Given the description of an element on the screen output the (x, y) to click on. 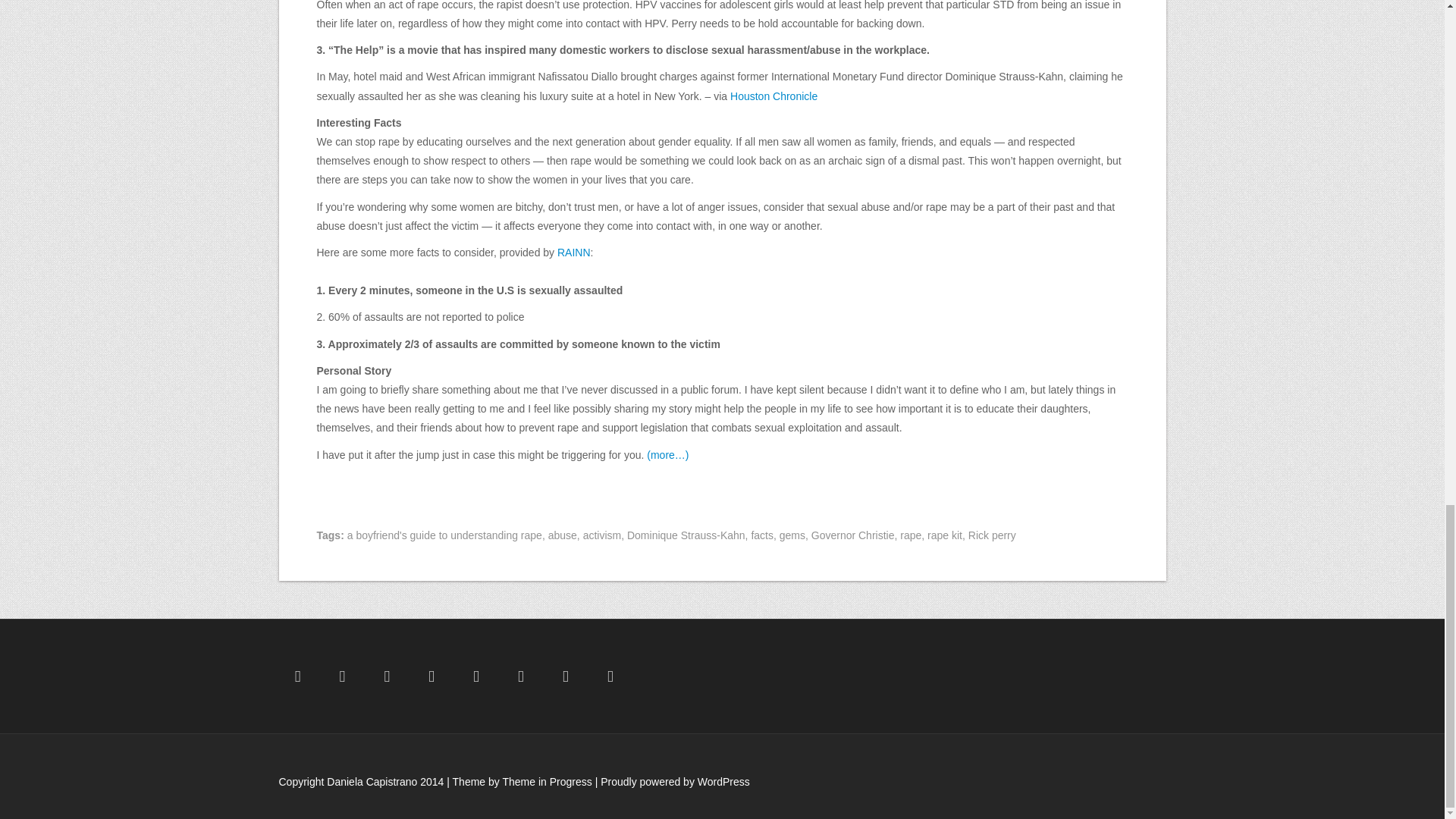
rape kit (944, 535)
Governor Christie (852, 535)
a boyfriend's guide to understanding rape (444, 535)
Rick perry (992, 535)
abuse (562, 535)
Houston Chronicle (773, 96)
Dominique Strauss-Kahn (686, 535)
rape (910, 535)
A Semantic Personal Publishing Platform (674, 781)
activism (602, 535)
gems (791, 535)
facts (762, 535)
Rss (609, 676)
RAINN (574, 252)
